Given the description of an element on the screen output the (x, y) to click on. 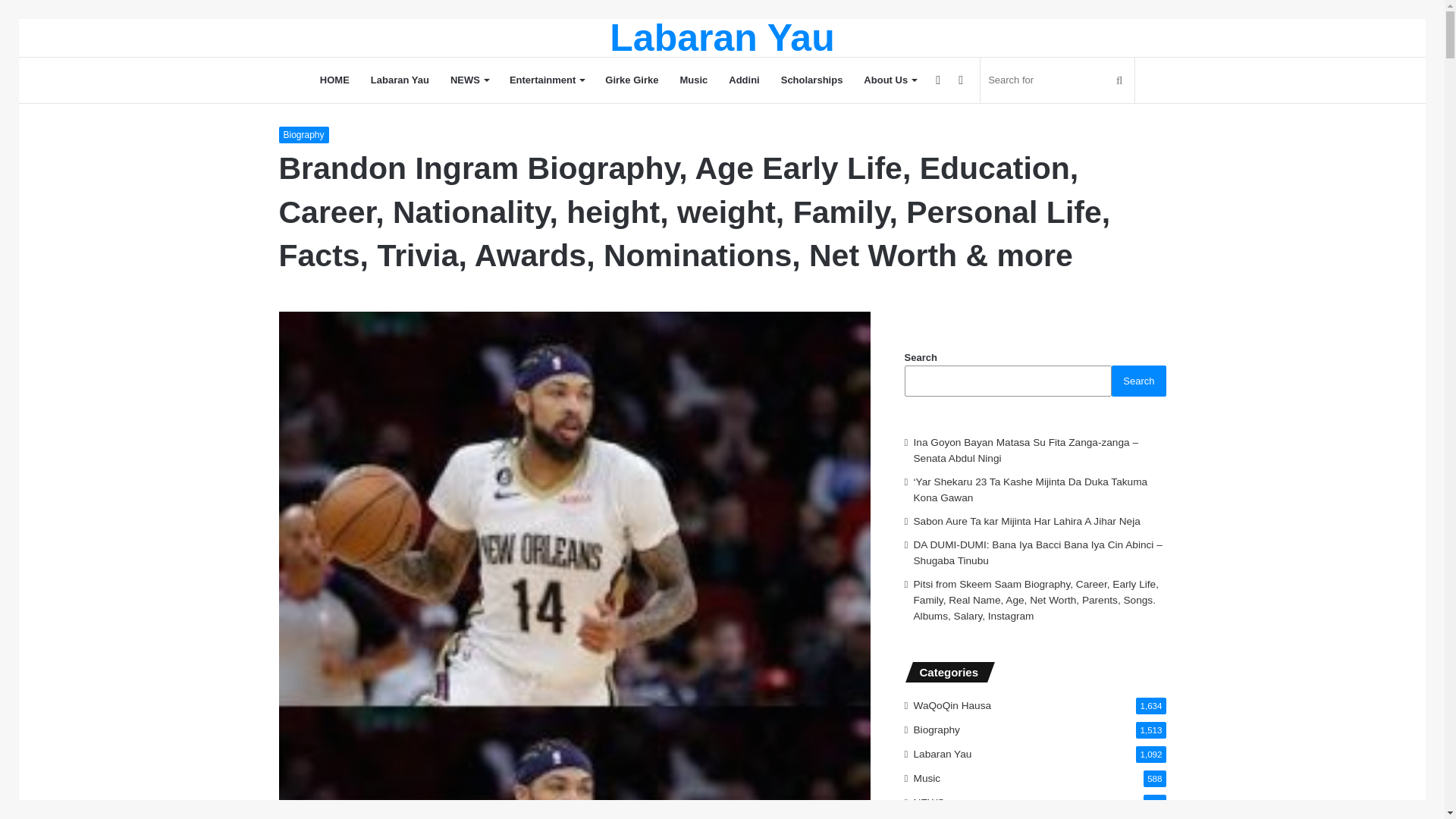
Girke Girke (631, 80)
Labaran Yau (399, 80)
Addini (743, 80)
About Us (889, 80)
Biography (304, 134)
Labaran Yau (721, 37)
Music (692, 80)
Search for (1056, 80)
Entertainment (546, 80)
HOME (333, 80)
Scholarships (811, 80)
Labaran Yau (721, 37)
NEWS (469, 80)
